Given the description of an element on the screen output the (x, y) to click on. 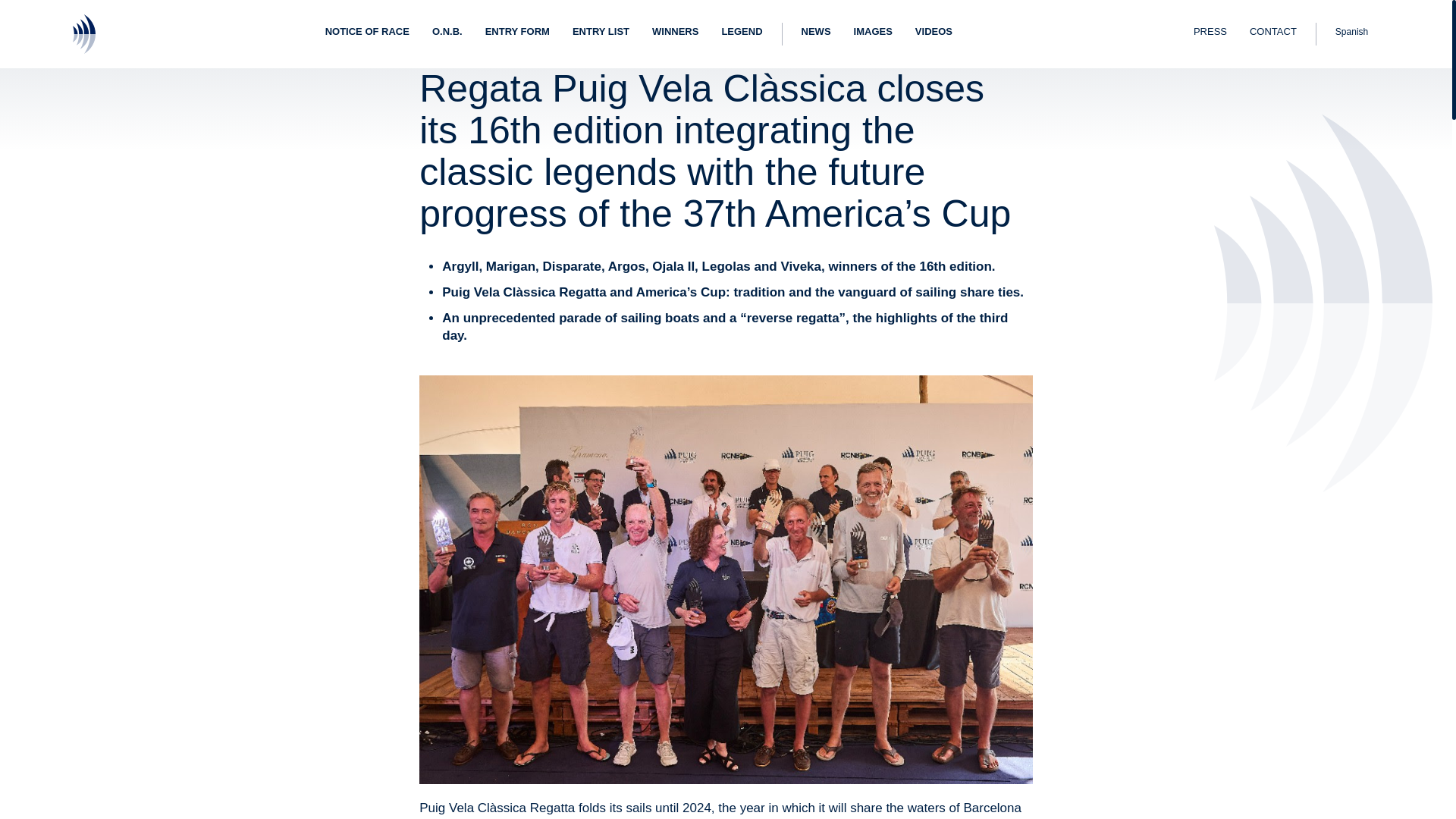
Spanish (1351, 34)
PRESS (1209, 33)
ENTRY LIST (600, 33)
LEGEND (741, 33)
ENTRY FORM (517, 33)
IMAGES (873, 33)
WINNERS (674, 33)
VIDEOS (933, 33)
NEWS (815, 33)
CONTACT (1272, 33)
